Given the description of an element on the screen output the (x, y) to click on. 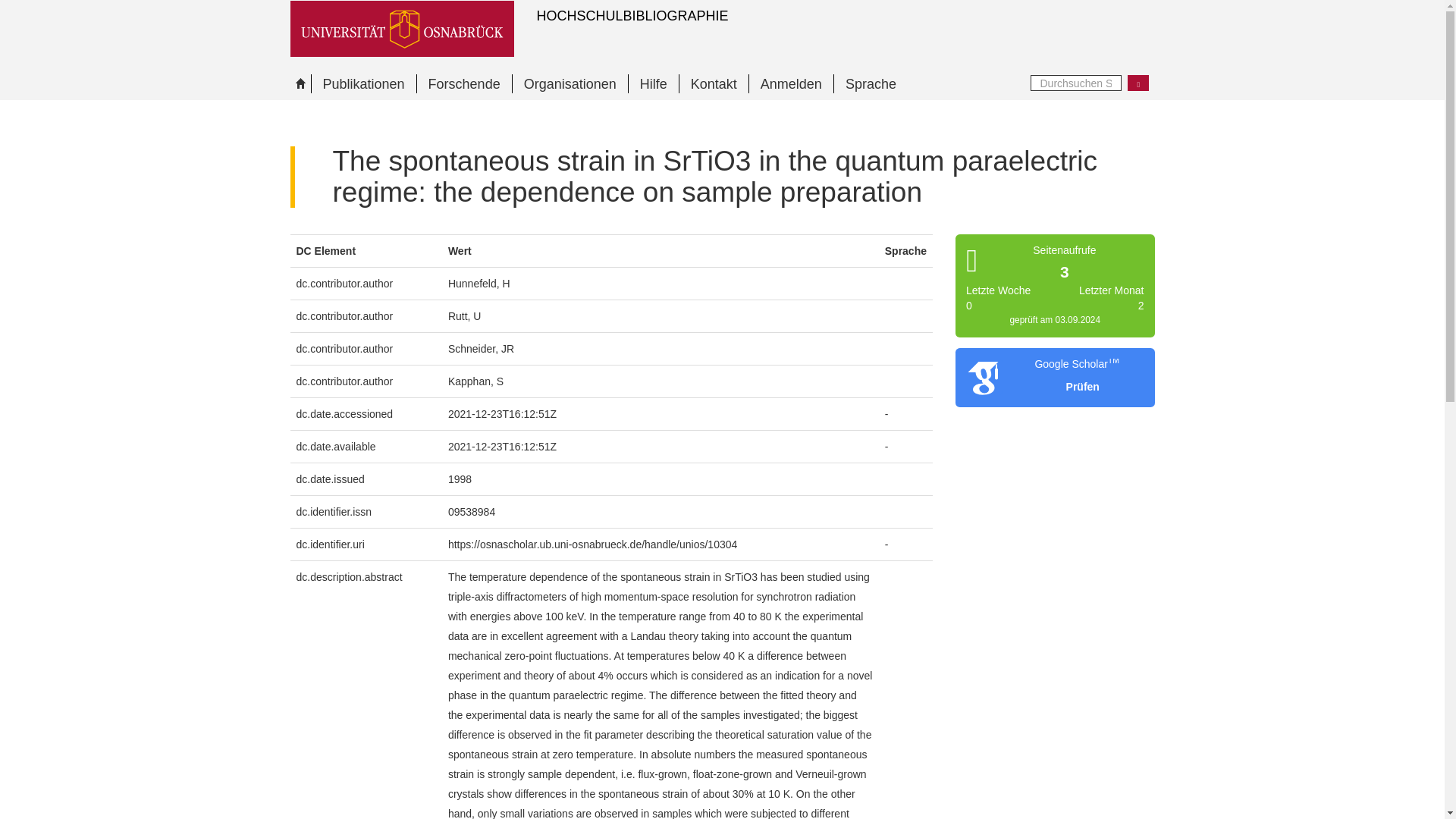
Forschende (464, 83)
Suchen Sie den Datensatz bei Google Scholar (1076, 386)
Publikationen (363, 83)
Hilfe (652, 83)
Kontakt (713, 83)
Anmelden (790, 83)
Sprache (869, 83)
Organisationen (569, 83)
